Given the description of an element on the screen output the (x, y) to click on. 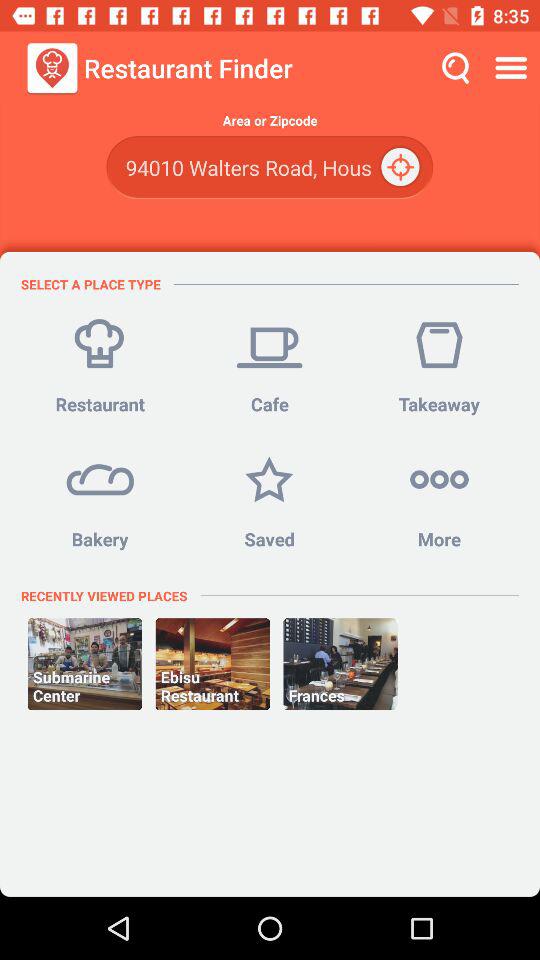
tap icon above the area or zipcode (513, 67)
